Given the description of an element on the screen output the (x, y) to click on. 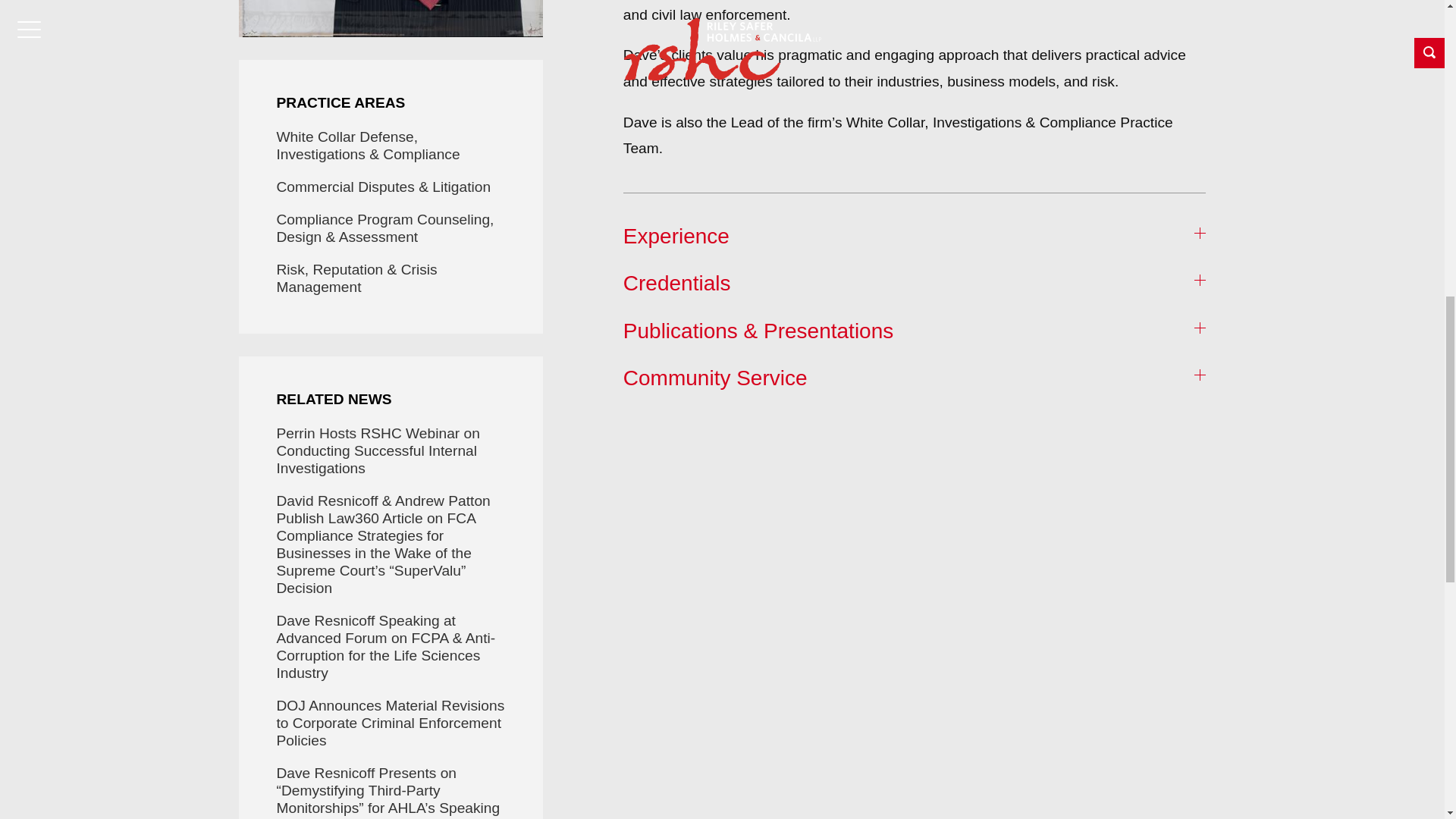
Experience (915, 236)
Credentials (915, 284)
Community Service (915, 378)
